Given the description of an element on the screen output the (x, y) to click on. 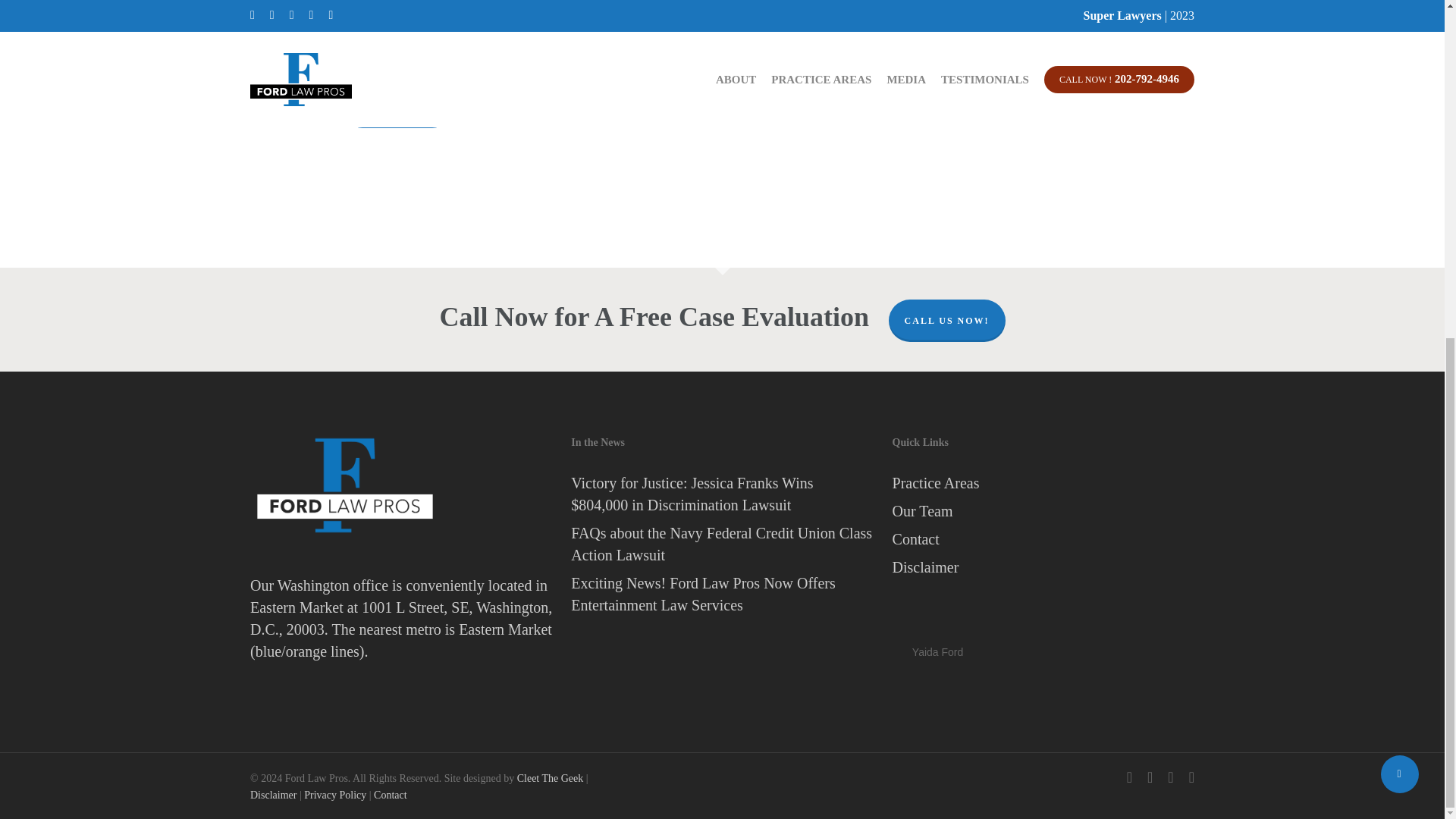
Learn More (397, 108)
Visit the official website of Super Lawyers (938, 611)
CALL US NOW! (947, 320)
